Given the description of an element on the screen output the (x, y) to click on. 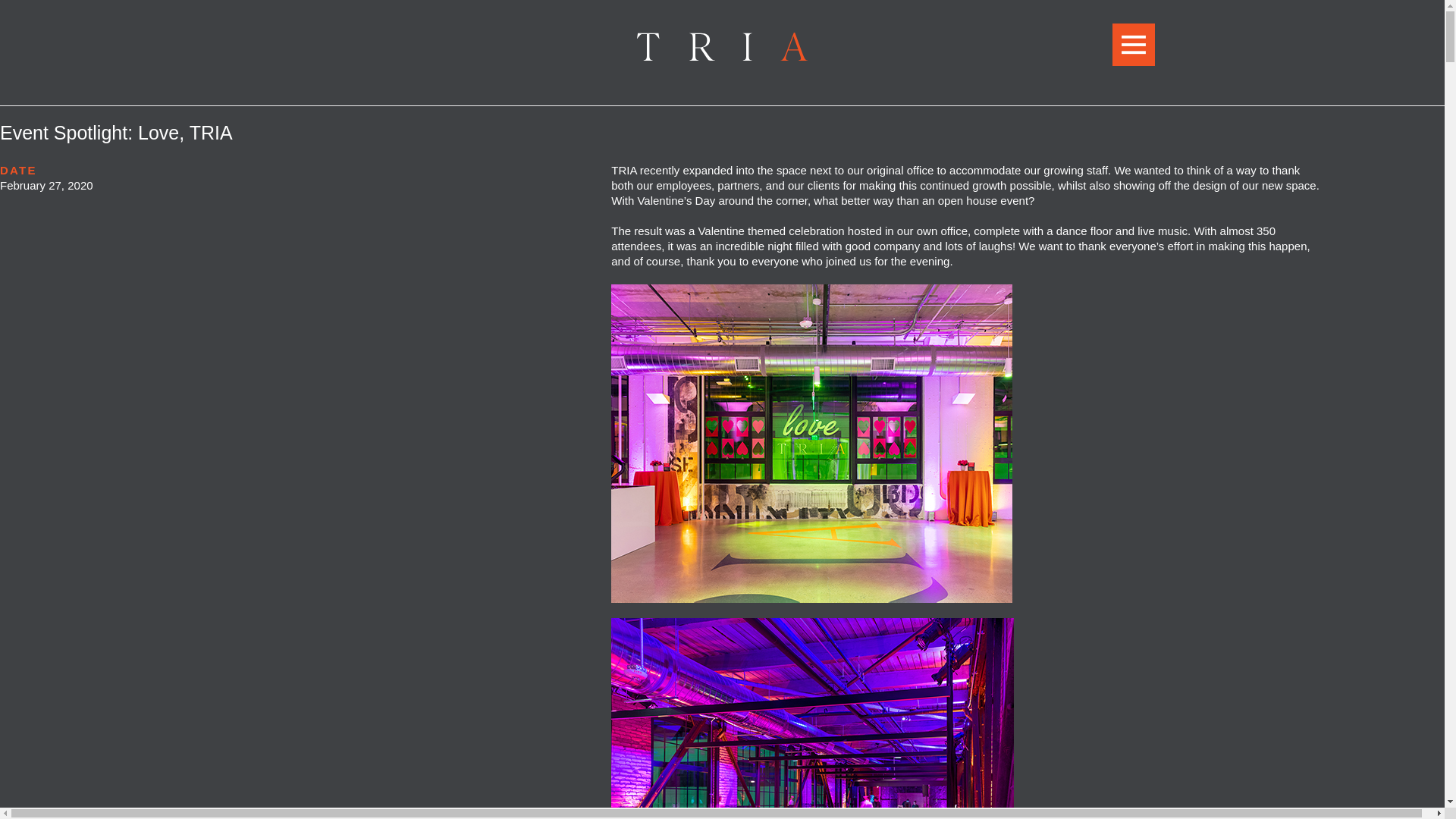
Event Spotlight: Love, TRIA (116, 132)
